Given the description of an element on the screen output the (x, y) to click on. 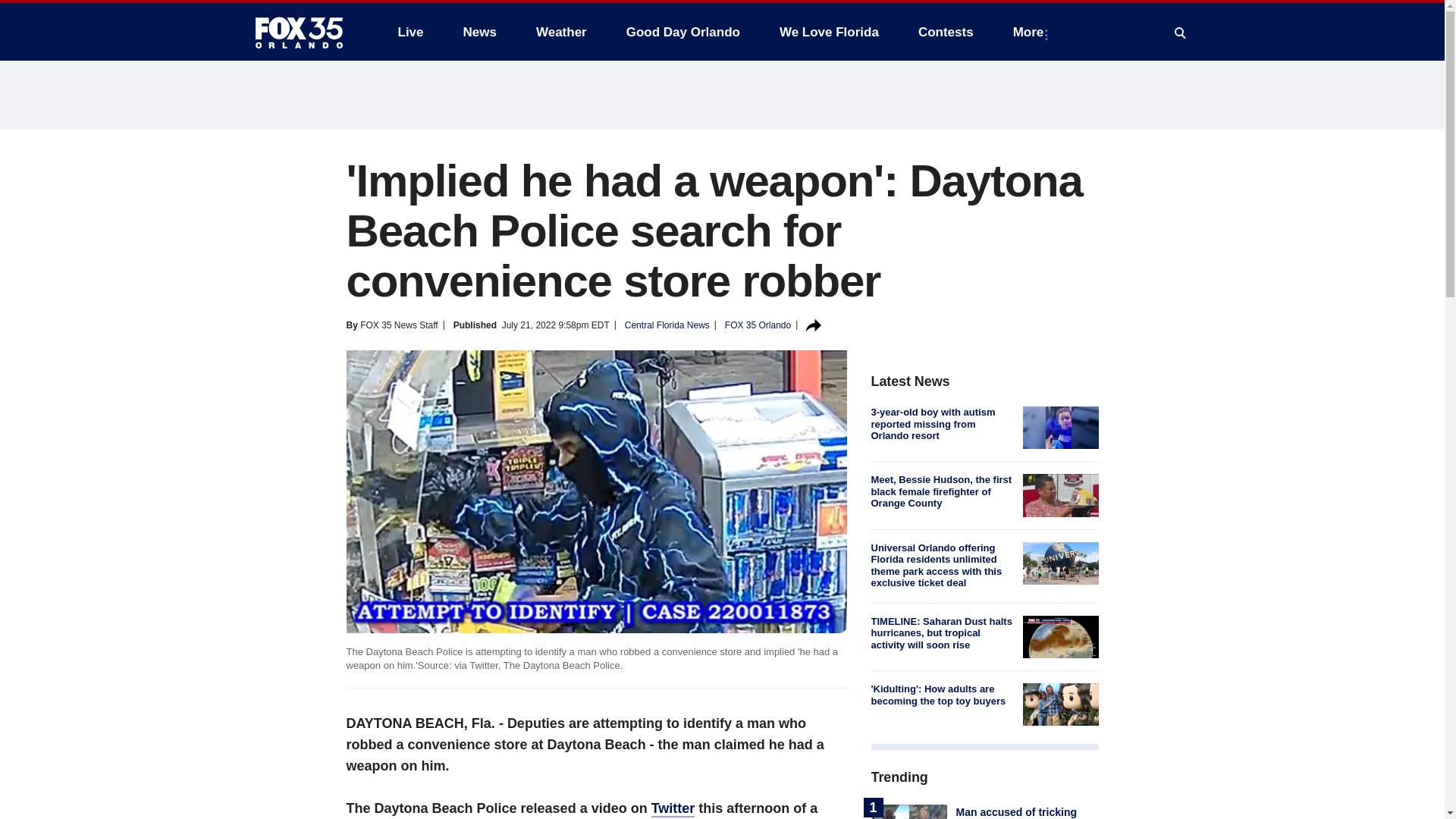
Good Day Orlando (683, 32)
Live (410, 32)
Contests (945, 32)
More (1031, 32)
News (479, 32)
Weather (561, 32)
We Love Florida (829, 32)
